Given the description of an element on the screen output the (x, y) to click on. 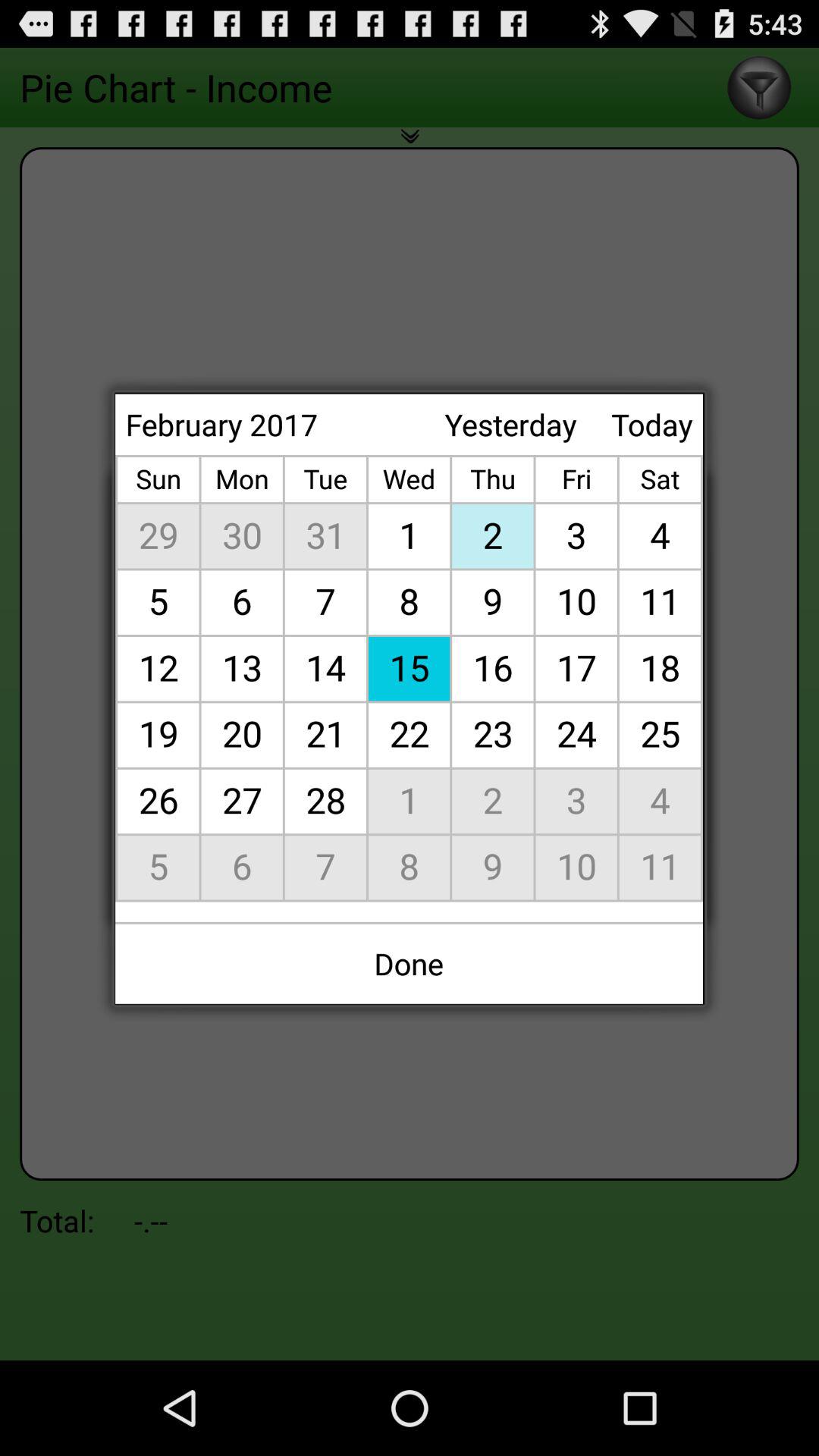
launch the icon below february 2017 app (408, 678)
